Given the description of an element on the screen output the (x, y) to click on. 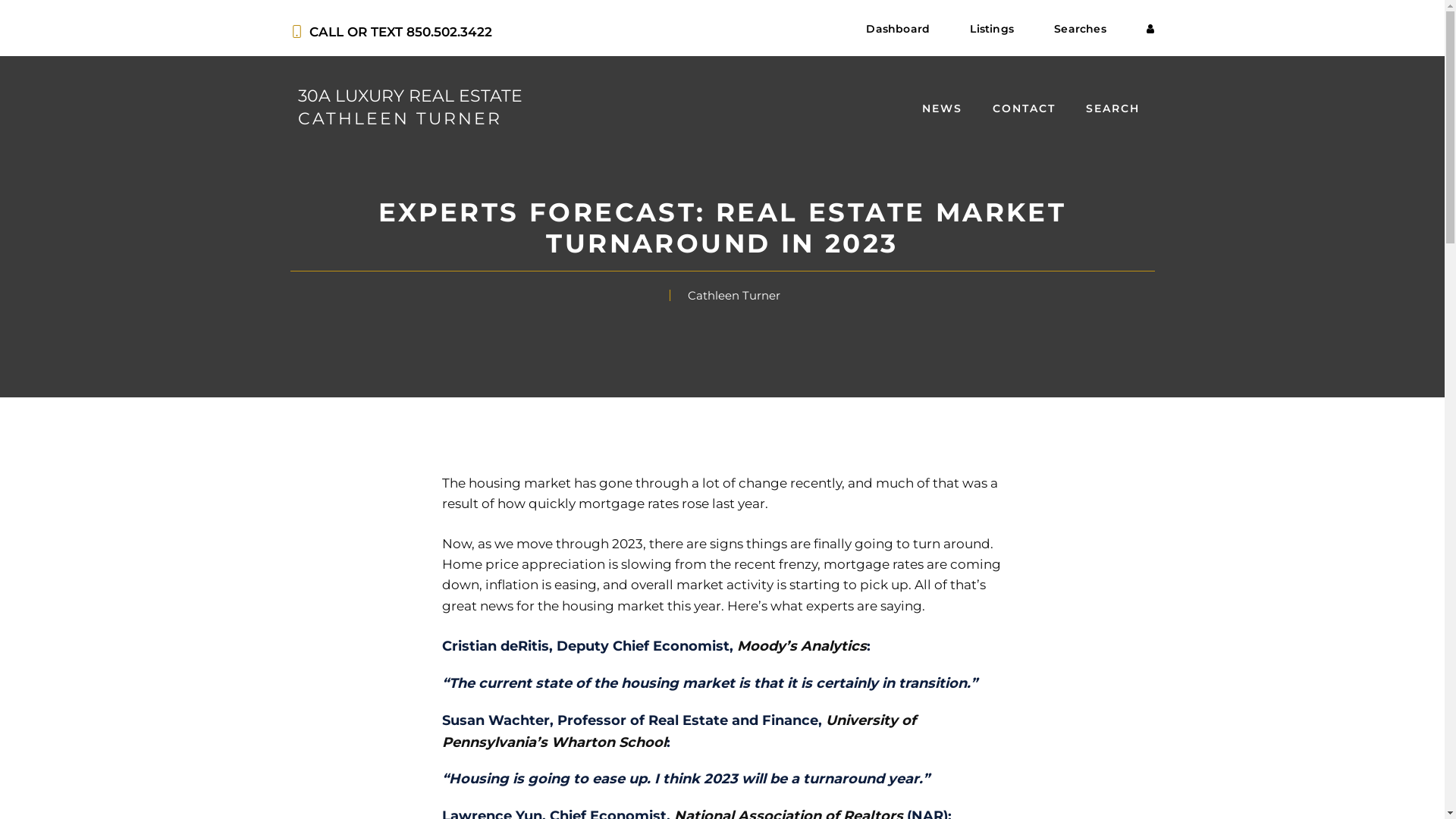
Listings Element type: text (991, 29)
CONTACT Element type: text (1023, 108)
price appreciation Element type: text (545, 563)
pick up Element type: text (883, 584)
30A LUXURY REAL ESTATE Element type: text (409, 95)
SEARCH Element type: text (1112, 108)
coming down Element type: text (720, 574)
mortgage rates Element type: text (627, 503)
Dashboard Element type: text (897, 29)
NEWS Element type: text (941, 108)
Searches Element type: text (1080, 29)
850.502.3422 Element type: text (449, 31)
